Given the description of an element on the screen output the (x, y) to click on. 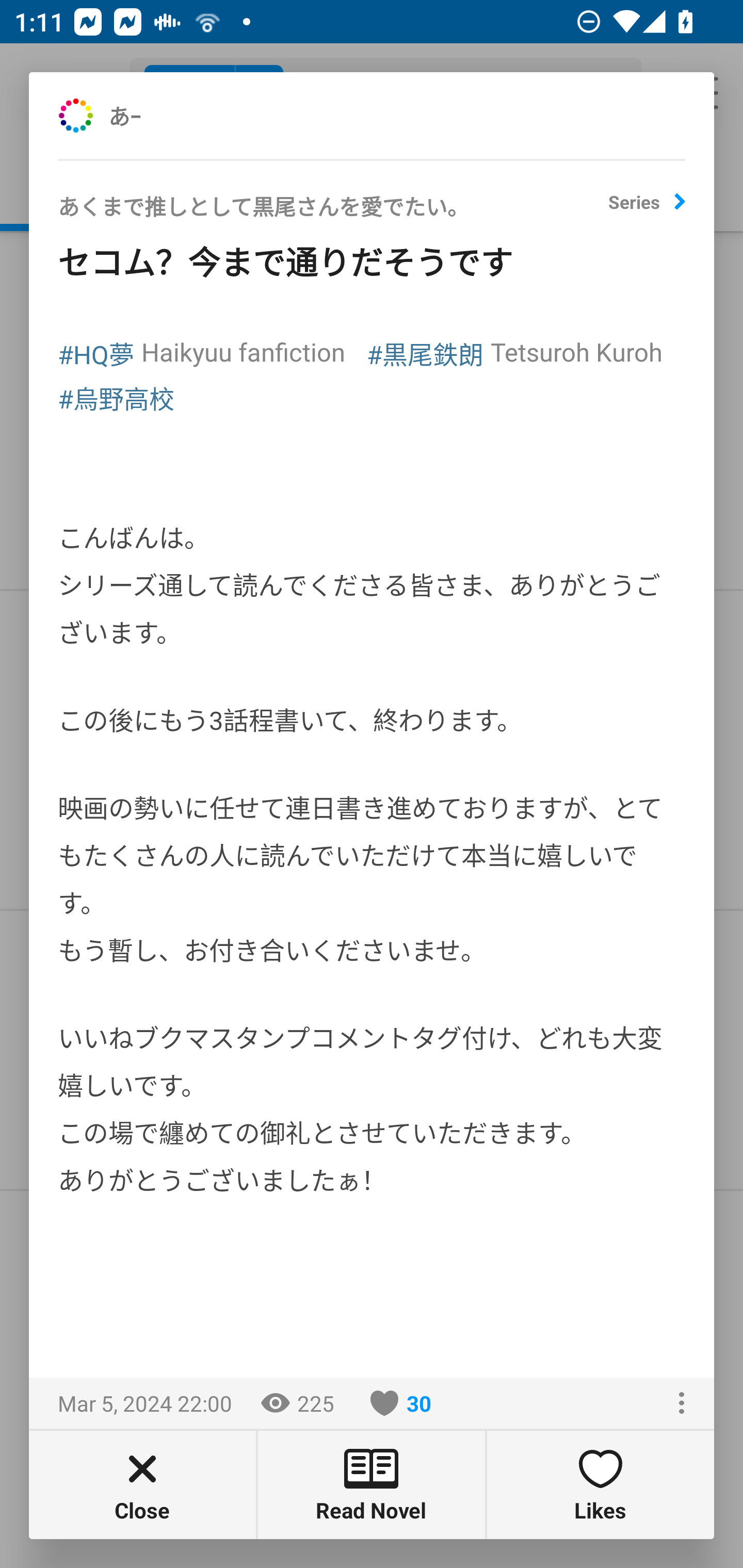
あｰ (145, 115)
あくまで推しとして黒尾さんを愛でたい。 (332, 212)
Series (646, 208)
#HQ夢 (95, 352)
Haikyuu fanfiction (243, 350)
#黒尾鉄朗 (425, 352)
Tetsuroh Kuroh (576, 350)
#烏野高校 (115, 397)
30 (400, 1403)
Close (141, 1484)
Read Novel (371, 1484)
